Given the description of an element on the screen output the (x, y) to click on. 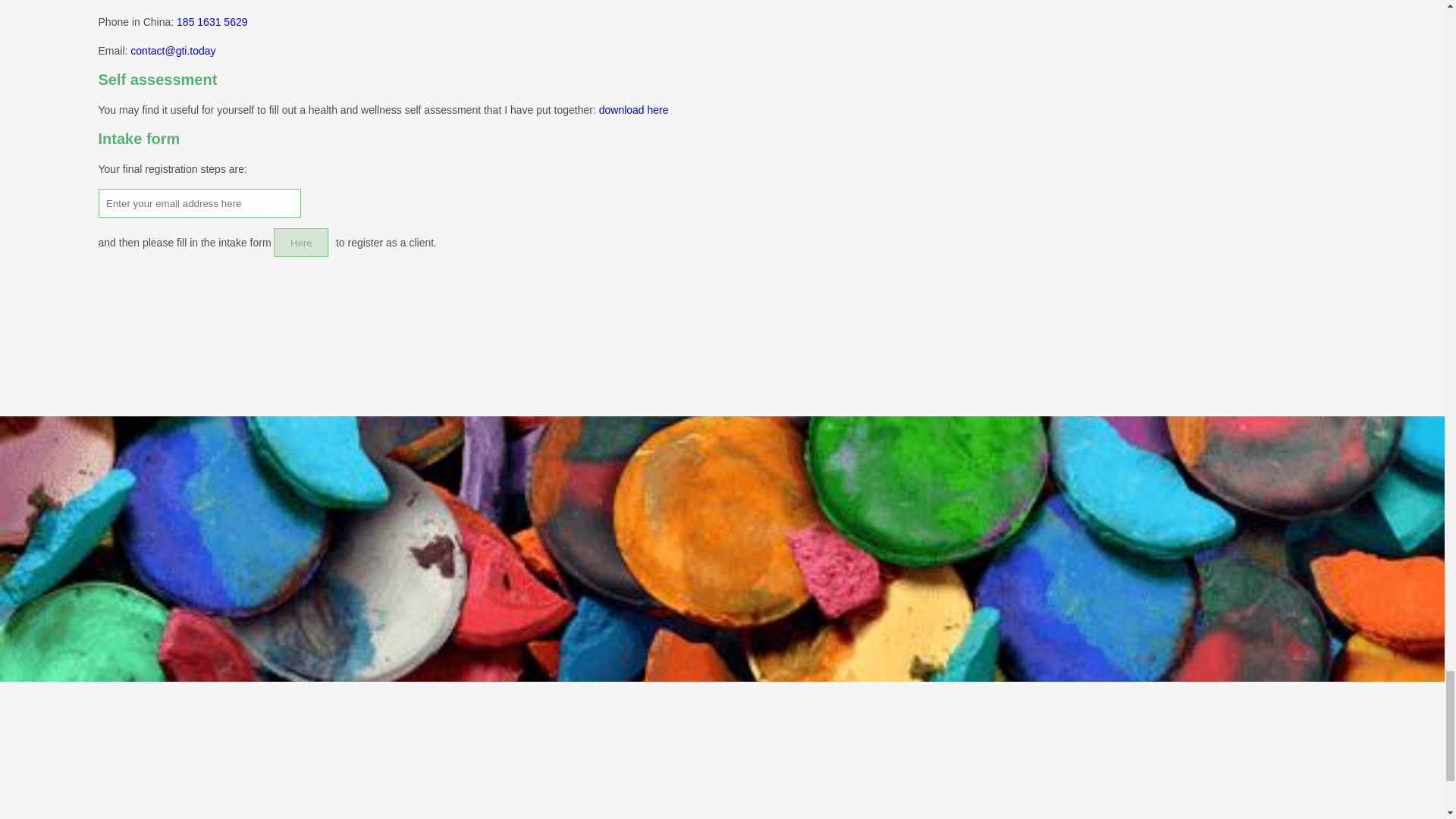
Here (301, 242)
